Given the description of an element on the screen output the (x, y) to click on. 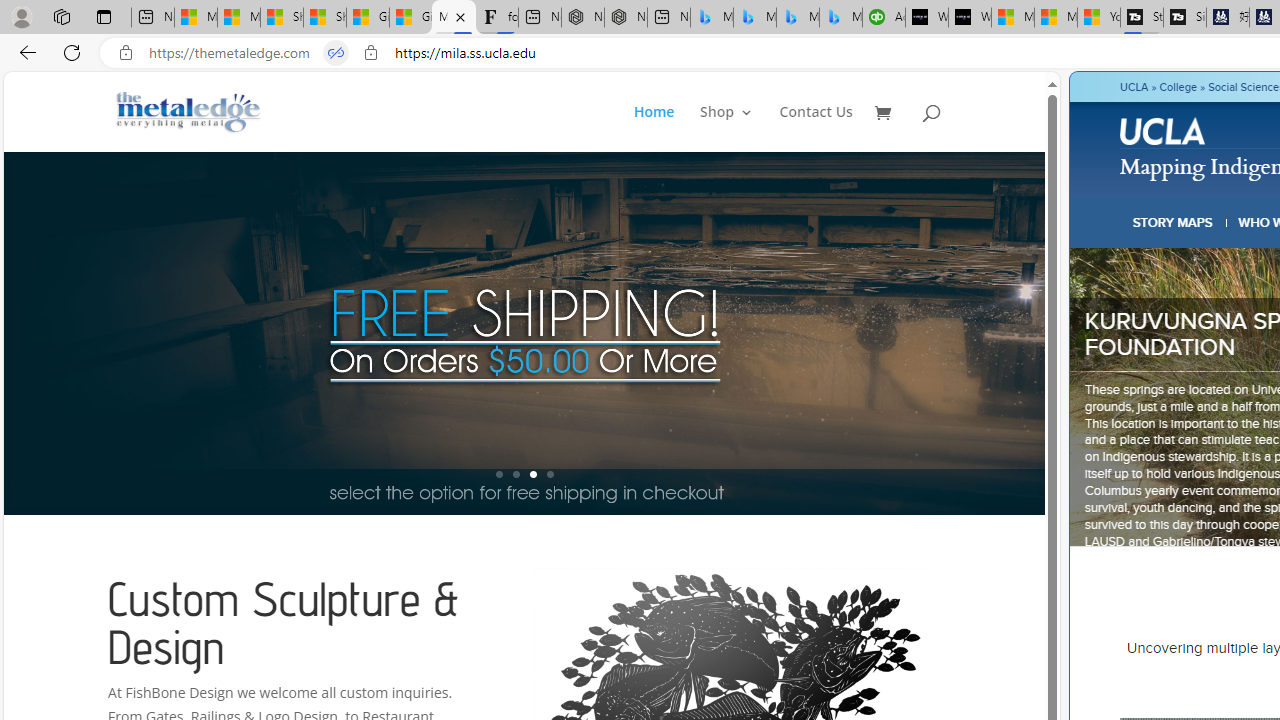
Home (653, 128)
Mapping Indigenous LA (453, 17)
Shop 3 (726, 128)
Contact Us (815, 128)
3 (532, 474)
